Given the description of an element on the screen output the (x, y) to click on. 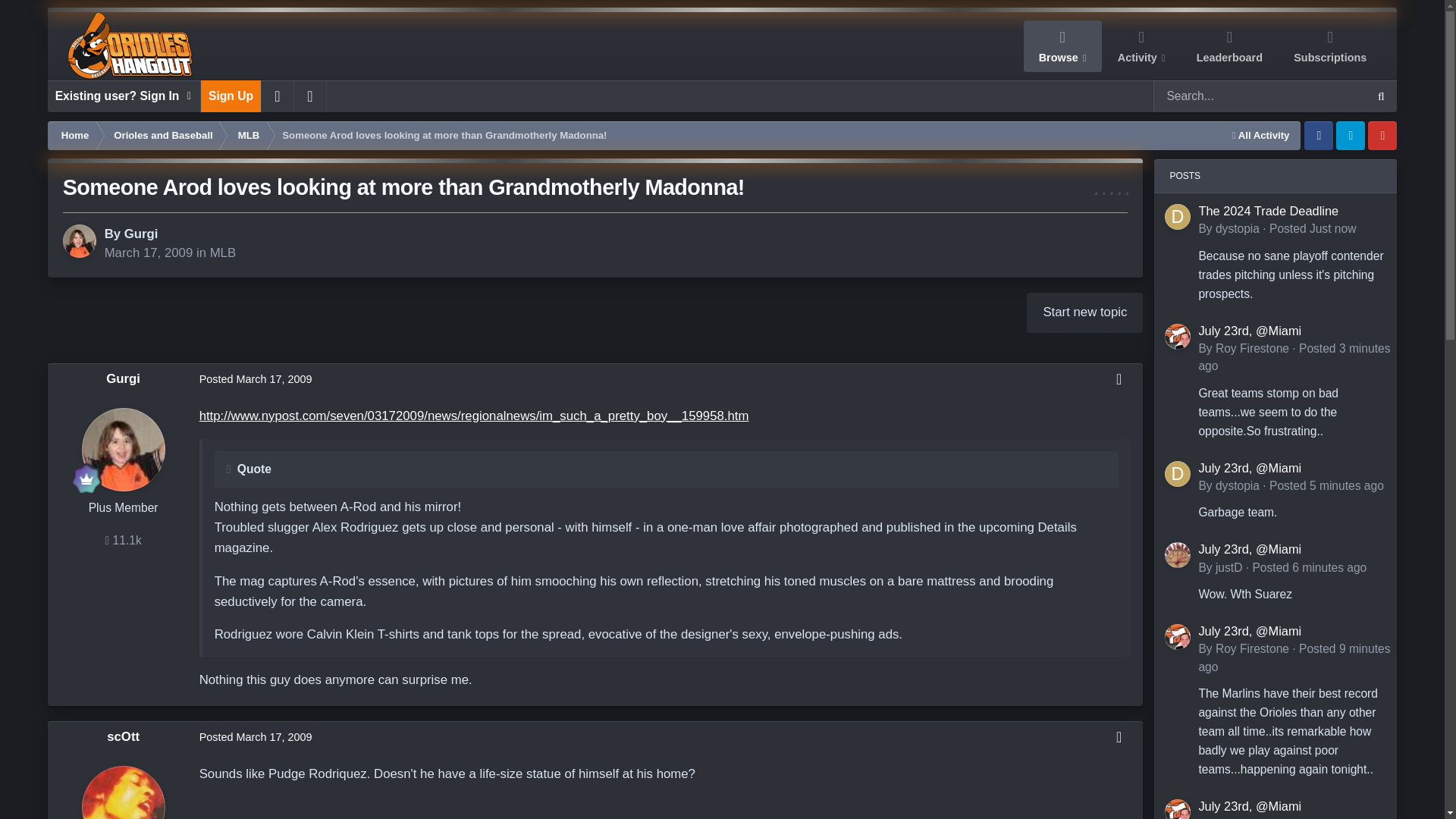
Orioles and Baseball (162, 135)
MLB (222, 252)
Sign Up (230, 96)
Start new topic (1084, 312)
Go to Gurgi's profile (79, 240)
Existing user? Sign In   (124, 96)
Facebook (1318, 135)
MLB (247, 135)
Activity (1141, 45)
11089 posts (122, 540)
Start a new topic in this forum (1084, 312)
Youtube (1382, 135)
Gurgi (140, 233)
Twitter (1350, 135)
All Activity (1261, 135)
